Given the description of an element on the screen output the (x, y) to click on. 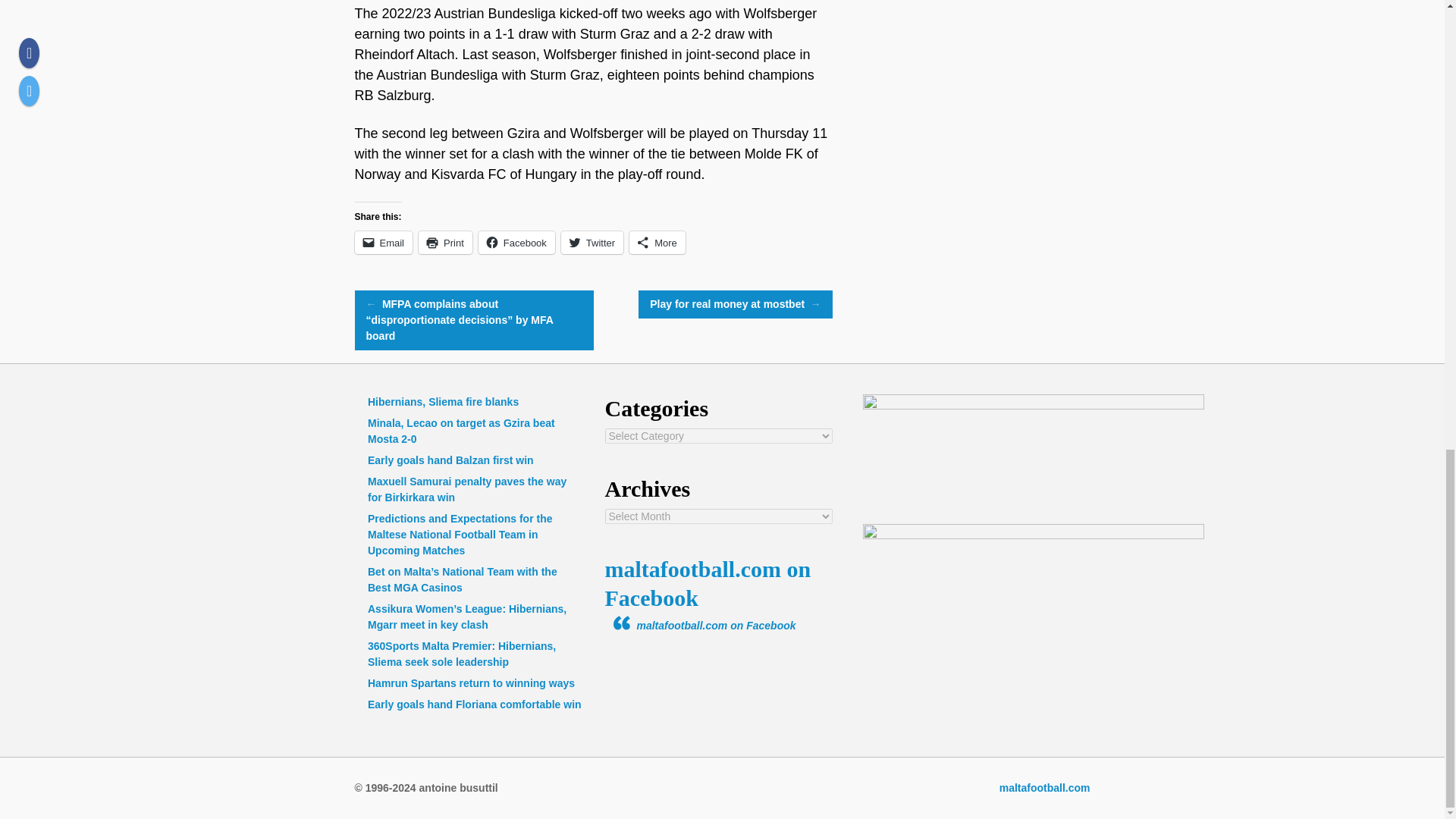
Click to email a link to a friend (384, 241)
Click to print (445, 241)
Click to share on Facebook (516, 241)
Click to share on Twitter (591, 241)
